Given the description of an element on the screen output the (x, y) to click on. 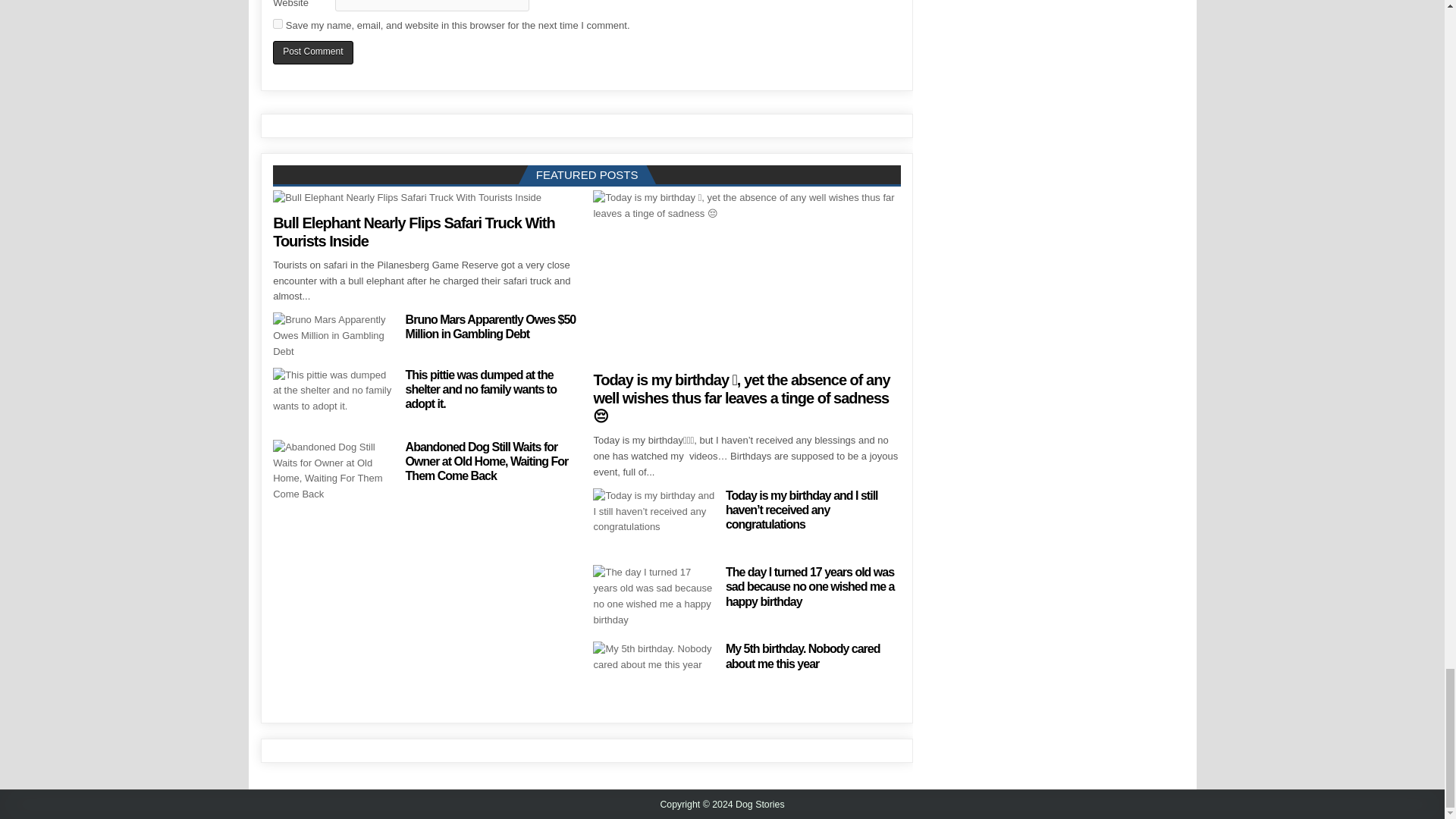
Post Comment (312, 52)
yes (277, 23)
